Given the description of an element on the screen output the (x, y) to click on. 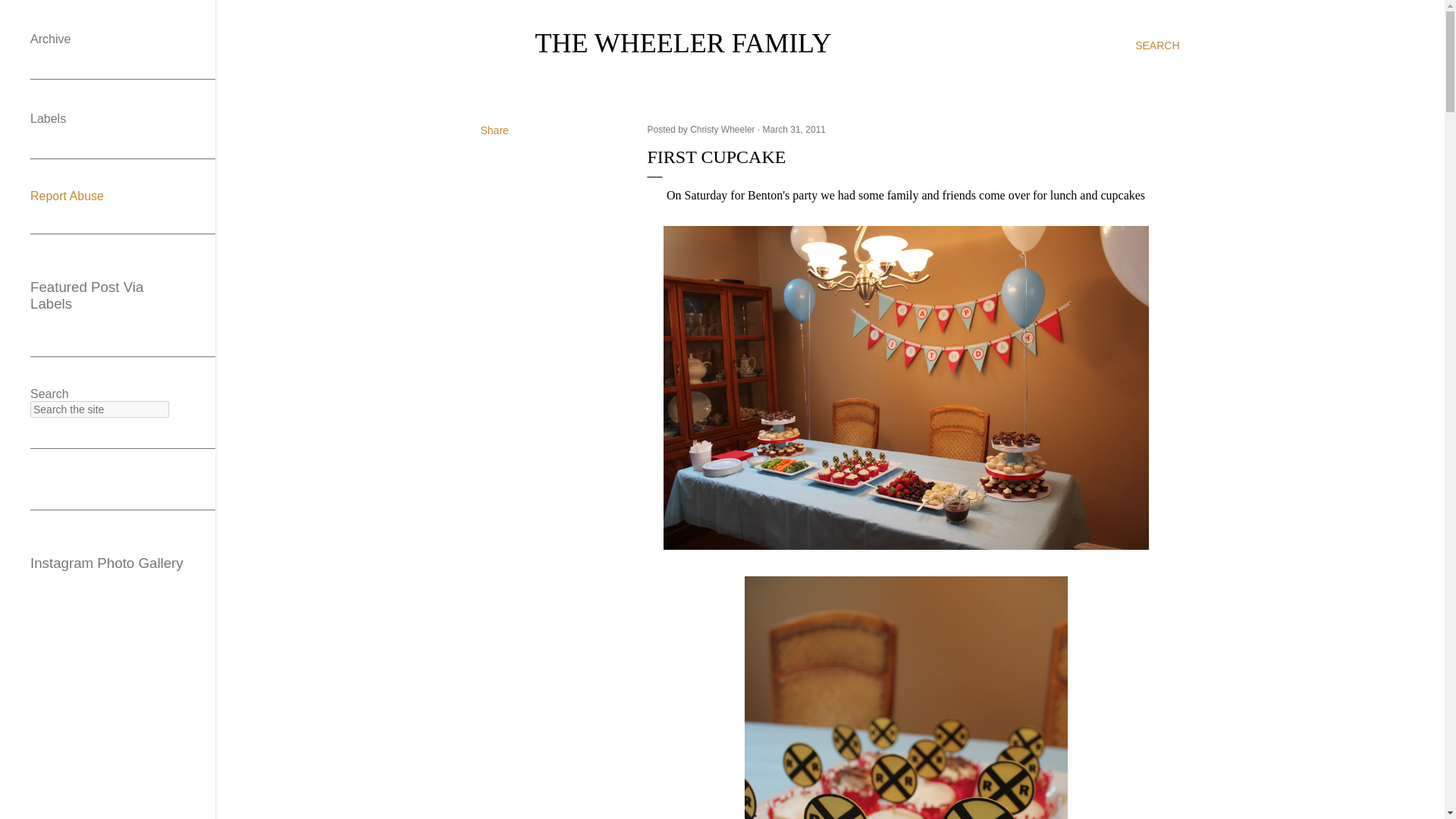
SEARCH (1157, 45)
Share (494, 130)
permanent link (793, 129)
Search the site (99, 409)
author profile (723, 129)
THE WHEELER FAMILY (683, 42)
March 31, 2011 (793, 129)
Christy Wheeler (723, 129)
